Given the description of an element on the screen output the (x, y) to click on. 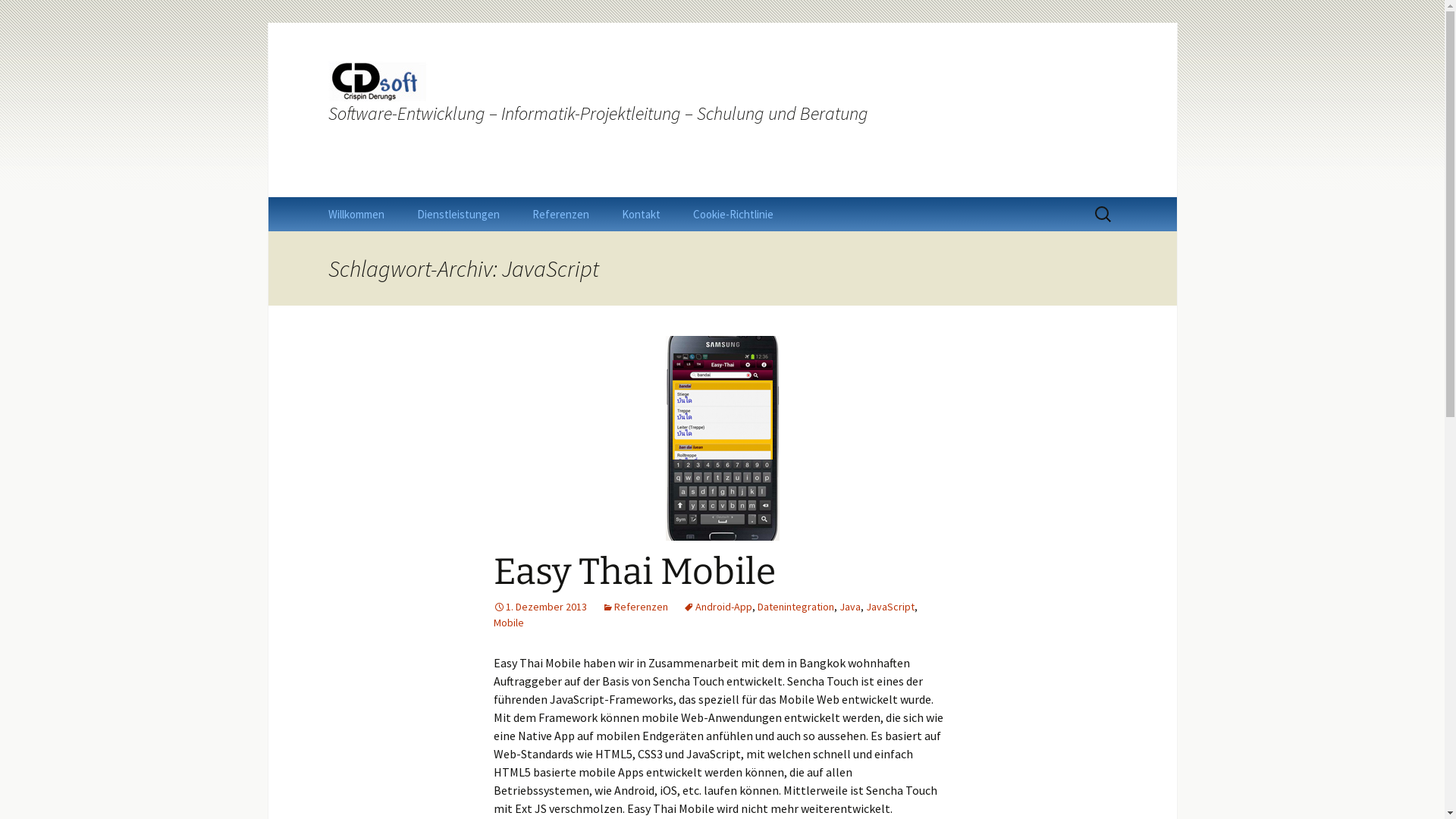
Datenintegration Element type: text (794, 606)
JavaScript Element type: text (890, 606)
Easy Thai Mobile Element type: text (633, 571)
Referenzen Element type: text (635, 606)
Kontakt Element type: text (640, 214)
Referenzen Element type: text (560, 214)
Suche Element type: text (32, 15)
Zum Inhalt springen Element type: text (312, 196)
Mobile Element type: text (507, 622)
Suche Element type: text (18, 16)
1. Dezember 2013 Element type: text (539, 606)
Willkommen Element type: text (355, 214)
Java Element type: text (848, 606)
Android-App Element type: text (716, 606)
Dienstleistungen Element type: text (457, 214)
Cookie-Richtlinie Element type: text (732, 214)
